Given the description of an element on the screen output the (x, y) to click on. 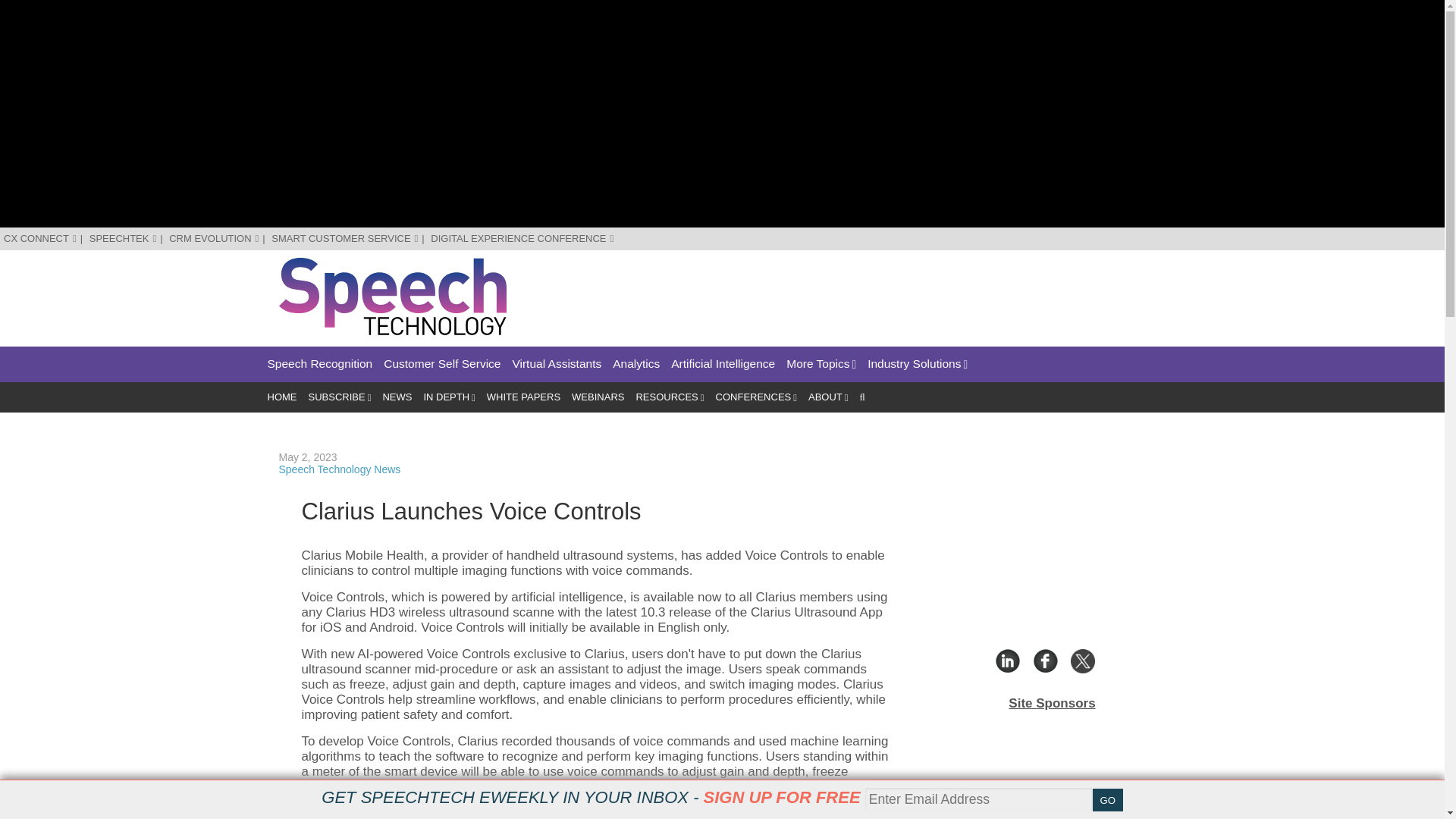
CRM EVOLUTION (213, 238)
SMART CUSTOMER SERVICE (343, 238)
Industry Solutions (917, 364)
Customer Self Service (442, 364)
Analytics (635, 364)
Artificial Intelligence (722, 364)
3rd party ad content (890, 291)
Analytics (635, 364)
Artificial Intelligence (722, 364)
GO (1107, 799)
More Topics (821, 364)
SPEECHTEK (122, 238)
Virtual Assistants (556, 364)
Speech Recognition (319, 364)
GET SPEECHTECH EWEEKLY IN YOUR INBOX - SIGN UP FOR FREE (590, 797)
